Given the description of an element on the screen output the (x, y) to click on. 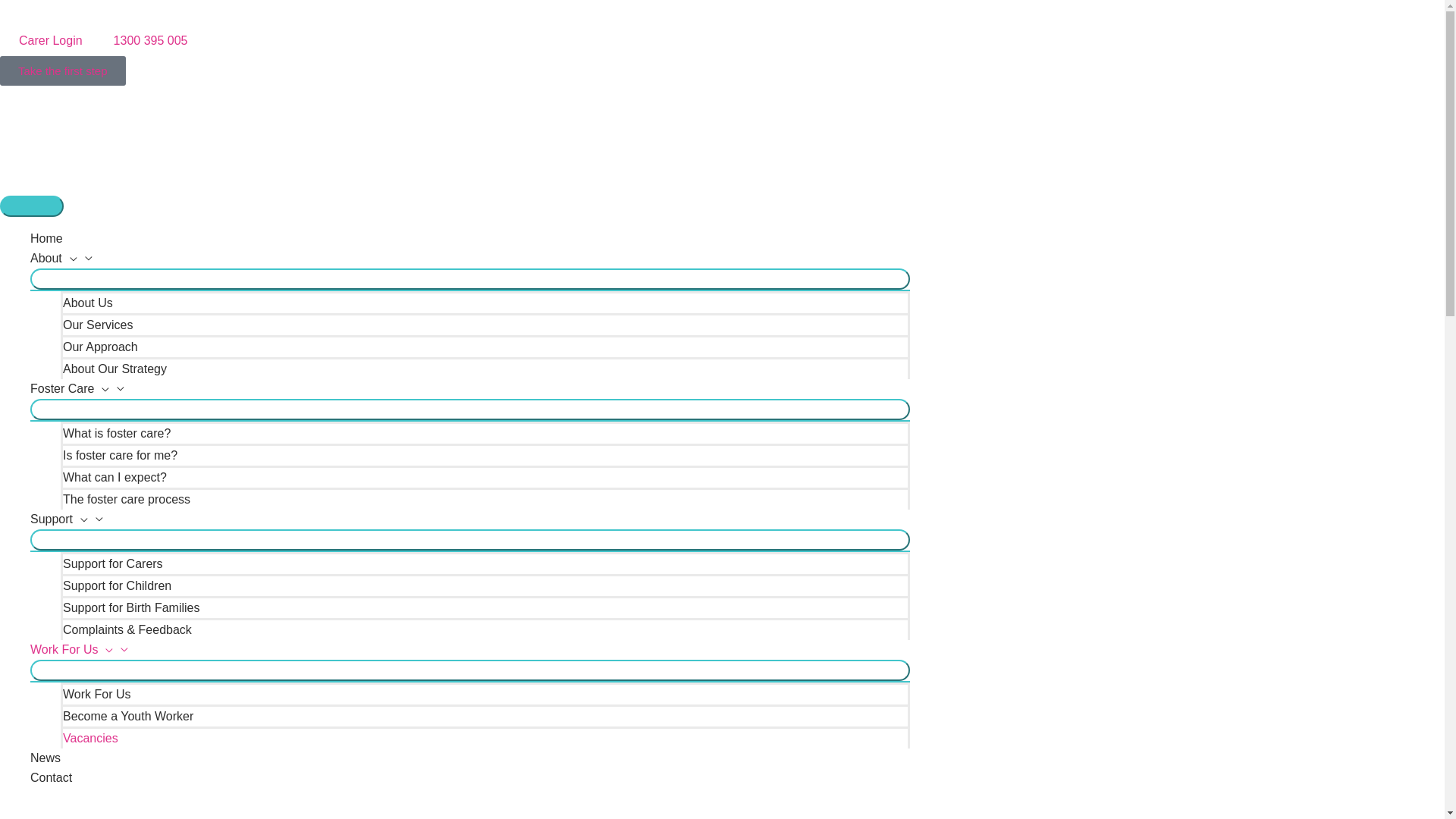
What can I expect? Element type: text (485, 476)
Become a Youth Worker Element type: text (485, 715)
Menu Toggle Element type: text (470, 278)
Our Approach Element type: text (485, 346)
Support for Birth Families Element type: text (485, 607)
Vacancies Element type: text (485, 737)
Main Menu Element type: text (31, 205)
What is foster care? Element type: text (485, 432)
Menu Toggle Element type: text (470, 669)
Support Element type: text (470, 519)
Menu Toggle Element type: text (470, 409)
The foster care process Element type: text (485, 498)
Work For Us Element type: text (485, 693)
Take the first step Element type: text (62, 70)
Contact Element type: text (470, 777)
Support for Carers Element type: text (485, 563)
Work For Us Element type: text (470, 649)
Complaints & Feedback Element type: text (485, 629)
Our Services Element type: text (485, 324)
Home Element type: text (470, 238)
Carer Login Element type: text (41, 40)
About Element type: text (470, 258)
1300 395 005 Element type: text (141, 40)
Is foster care for me? Element type: text (485, 454)
About Us Element type: text (485, 302)
Foster Care Element type: text (470, 388)
About Our Strategy Element type: text (485, 368)
Support for Children Element type: text (485, 585)
Menu Toggle Element type: text (470, 539)
News Element type: text (470, 758)
